Given the description of an element on the screen output the (x, y) to click on. 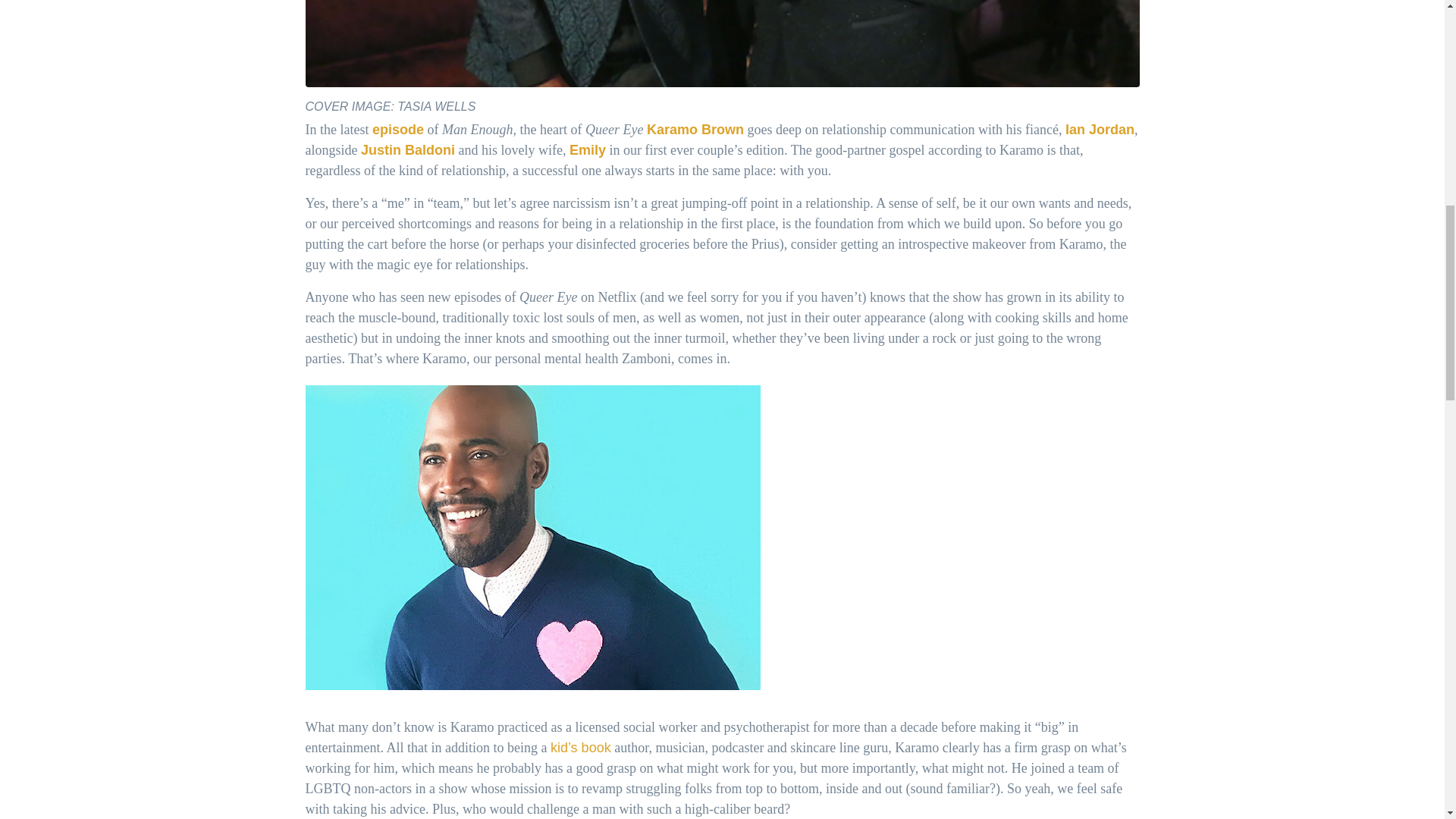
Ian Jordan (1099, 129)
Justin Baldoni (407, 150)
Emily (587, 150)
Karamo Brown (695, 129)
episode (397, 129)
